Given the description of an element on the screen output the (x, y) to click on. 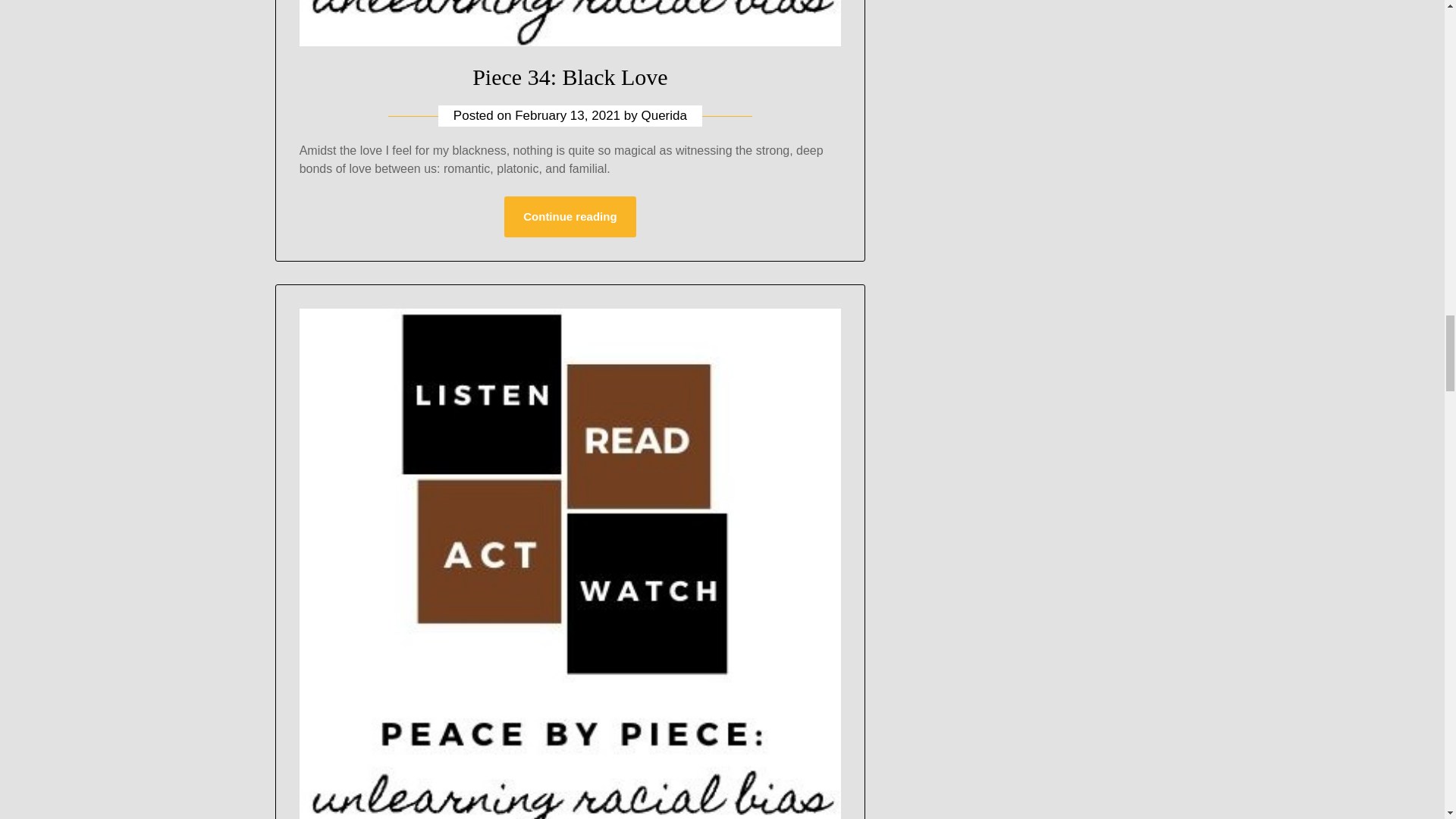
Continue reading (568, 216)
Querida (662, 115)
February 13, 2021 (567, 115)
Piece 34: Black Love (568, 76)
